Given the description of an element on the screen output the (x, y) to click on. 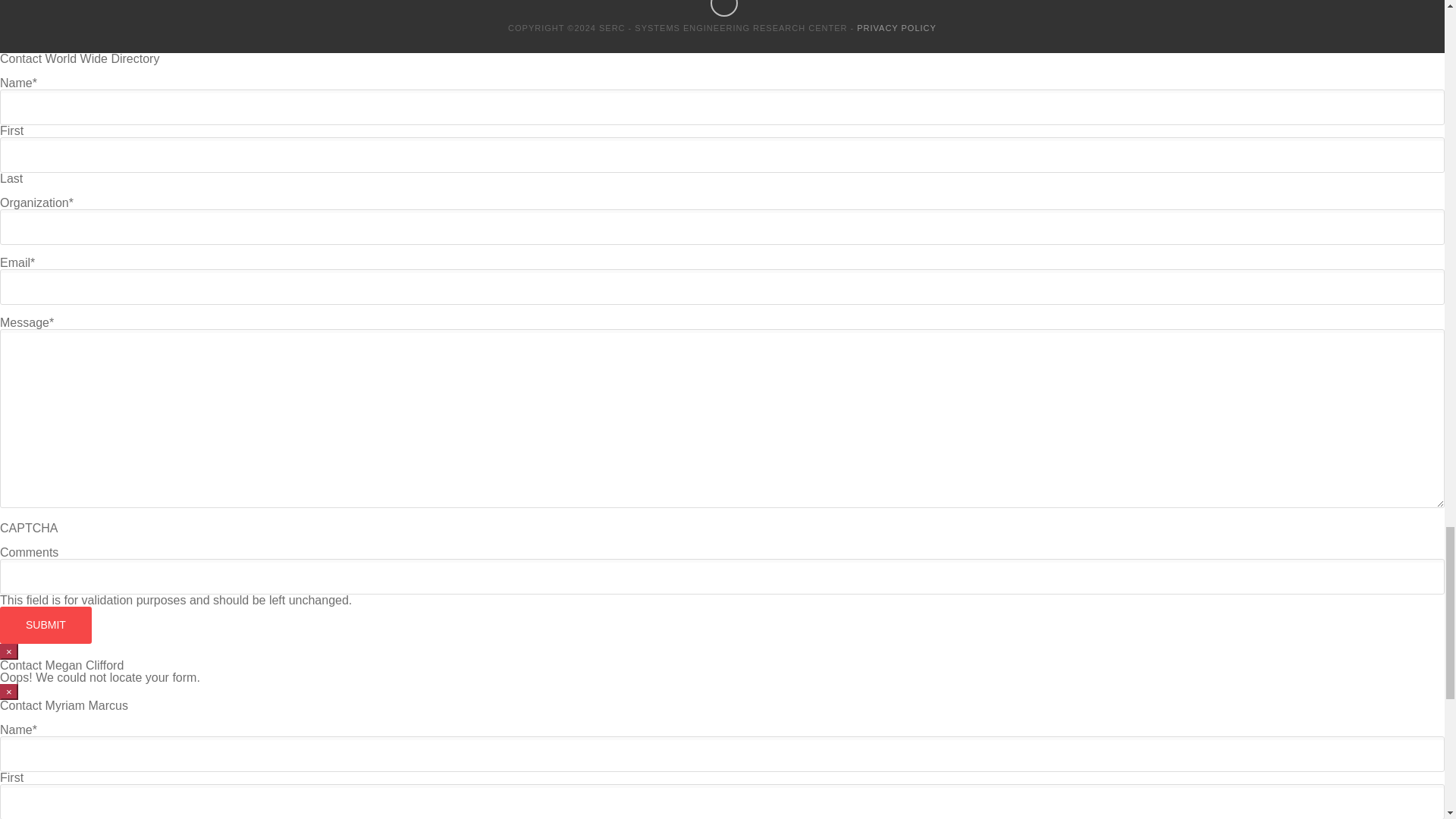
Submit (45, 624)
